Given the description of an element on the screen output the (x, y) to click on. 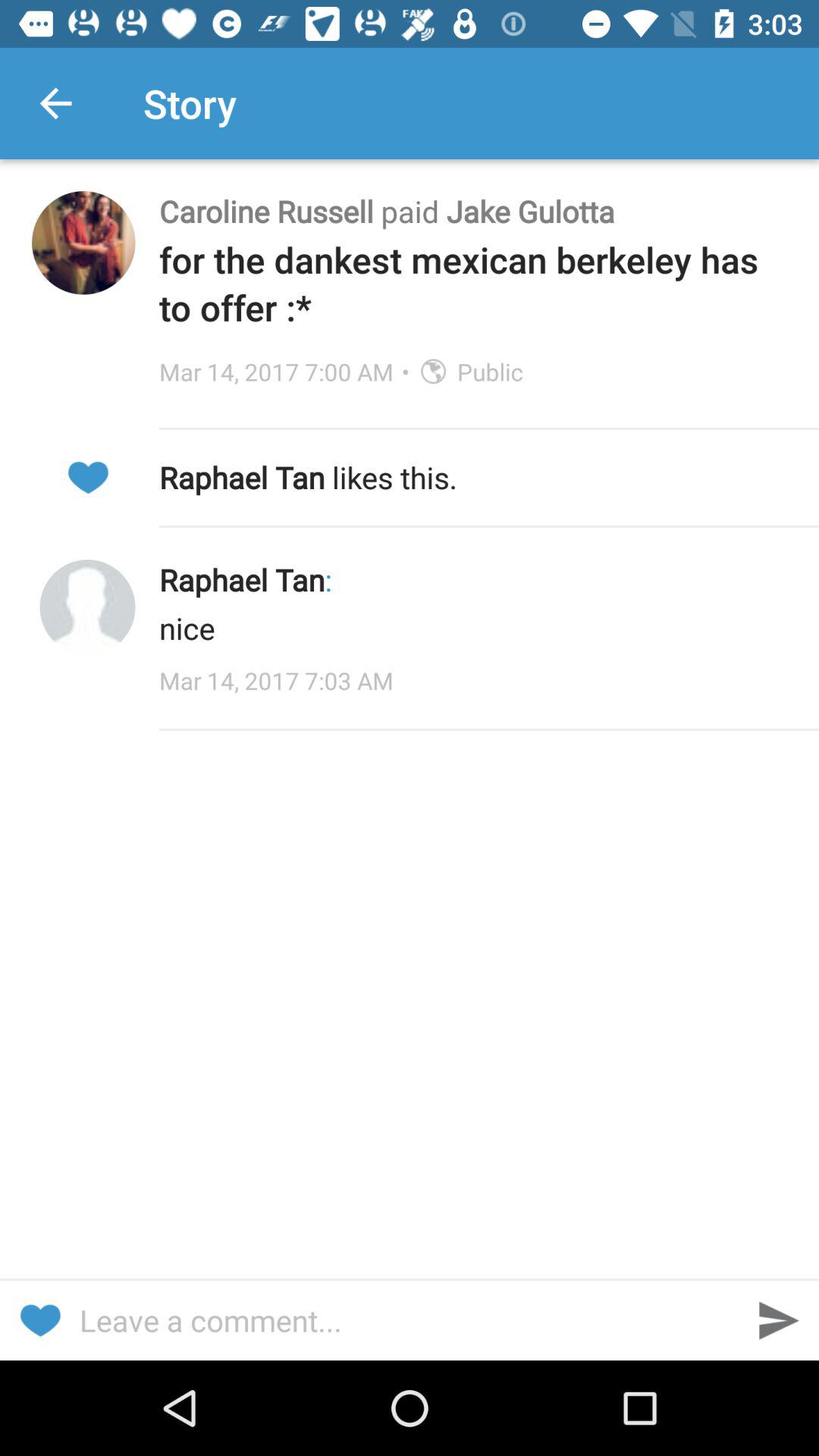
leave a comment (409, 1320)
